Given the description of an element on the screen output the (x, y) to click on. 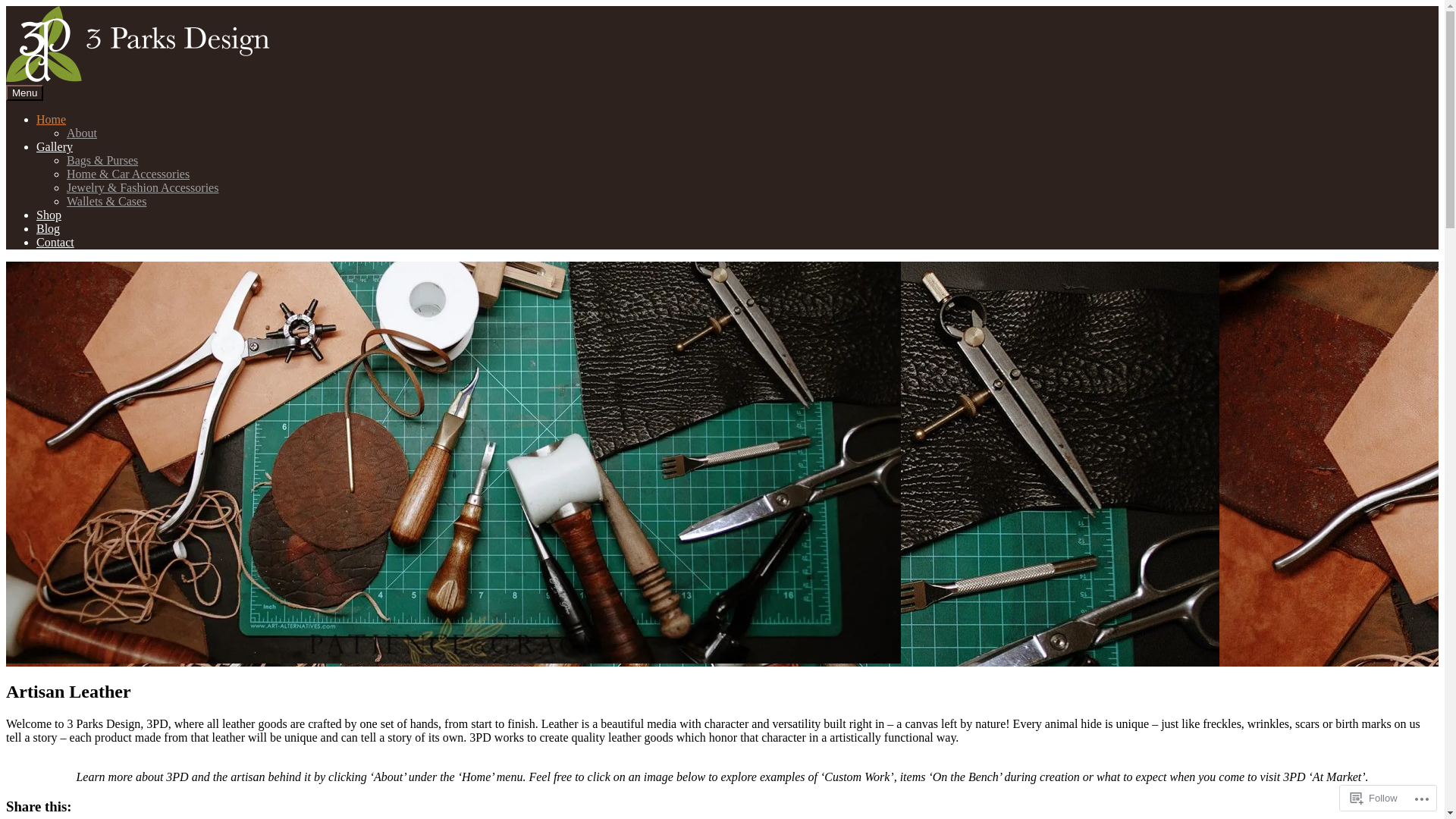
Jewelry & Fashion Accessories Element type: text (142, 187)
Gallery Element type: text (54, 146)
Bags & Purses Element type: text (102, 159)
Skip to content Element type: text (5, 5)
Home Element type: text (50, 118)
Contact Element type: text (55, 241)
3 Parks Design Element type: text (42, 103)
Home & Car Accessories Element type: text (127, 173)
About Element type: text (81, 132)
Menu Element type: text (24, 92)
Follow Element type: text (1373, 797)
Blog Element type: text (47, 228)
Shop Element type: text (48, 214)
Wallets & Cases Element type: text (106, 200)
